Given the description of an element on the screen output the (x, y) to click on. 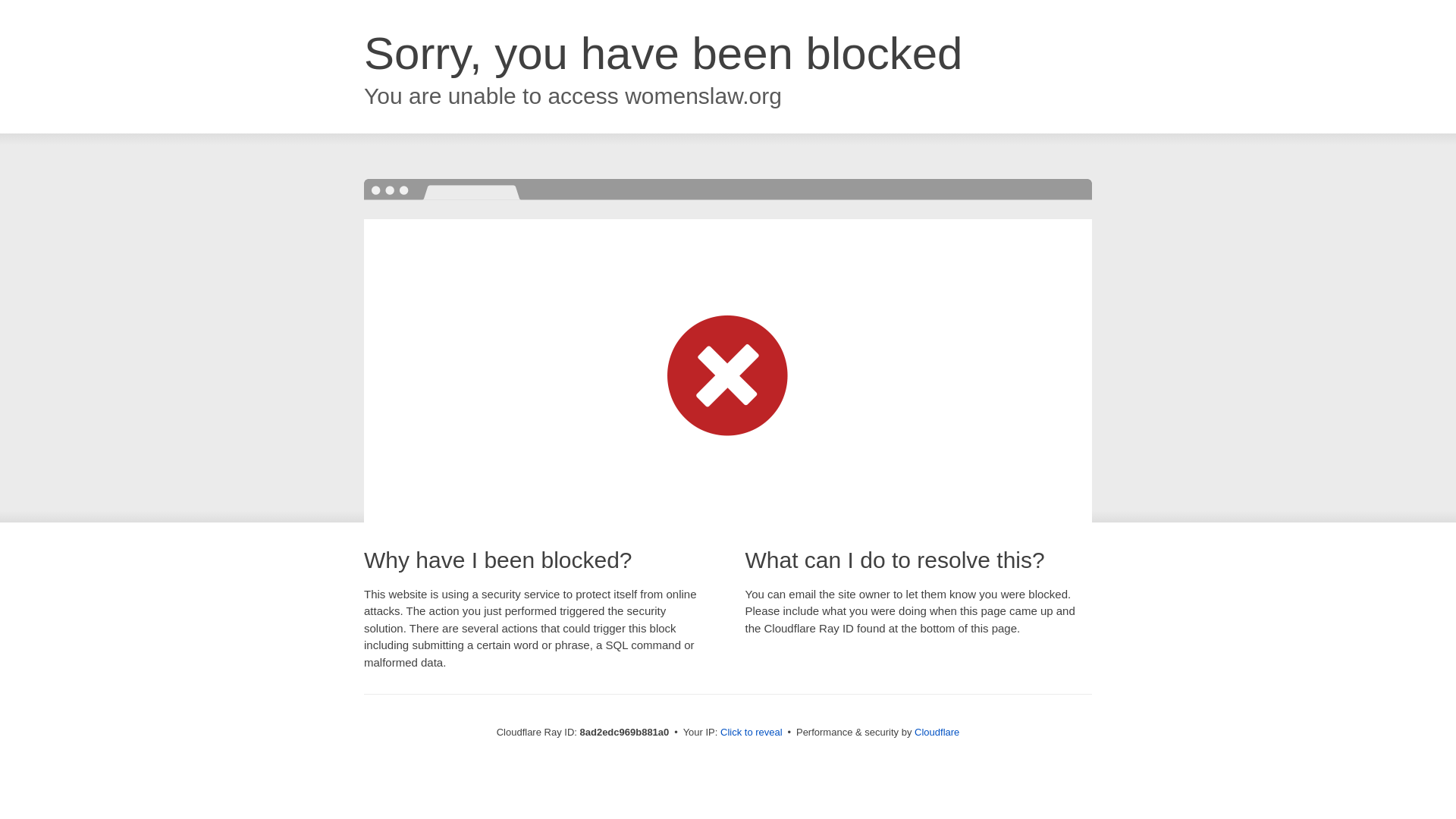
Cloudflare (936, 731)
Click to reveal (751, 732)
